Given the description of an element on the screen output the (x, y) to click on. 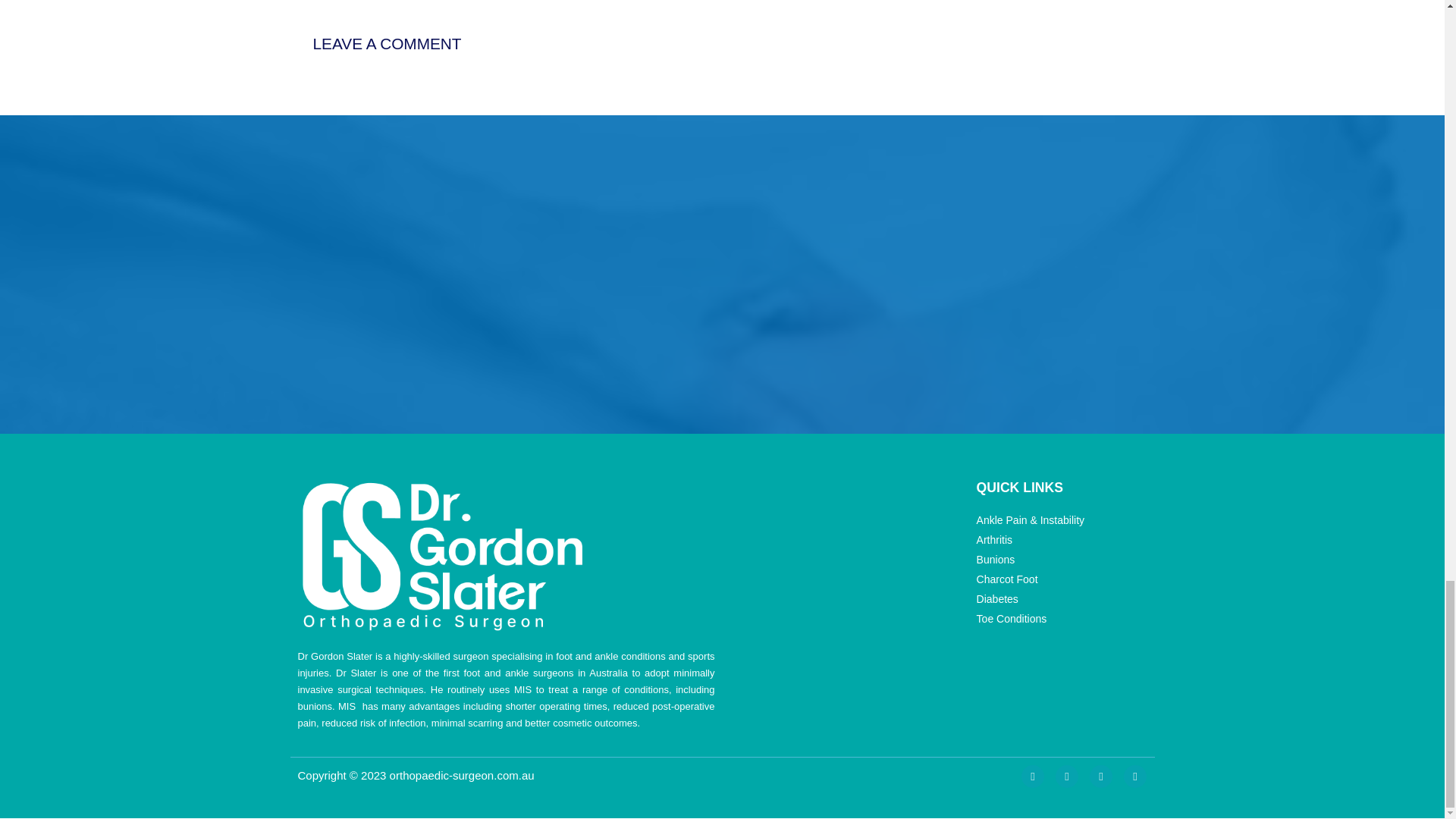
Linkedin-in (1100, 775)
Dr Gordon Slater, Albury (1016, 274)
Dr Gordon Slater, Potts Point (422, 274)
Toe Conditions (1060, 619)
Twitter (1066, 775)
Bunions (1060, 560)
Instagram (1032, 775)
Arthritis (1060, 540)
Diabetes (1060, 599)
Charcot Foot (1060, 579)
Youtube (1135, 775)
